Given the description of an element on the screen output the (x, y) to click on. 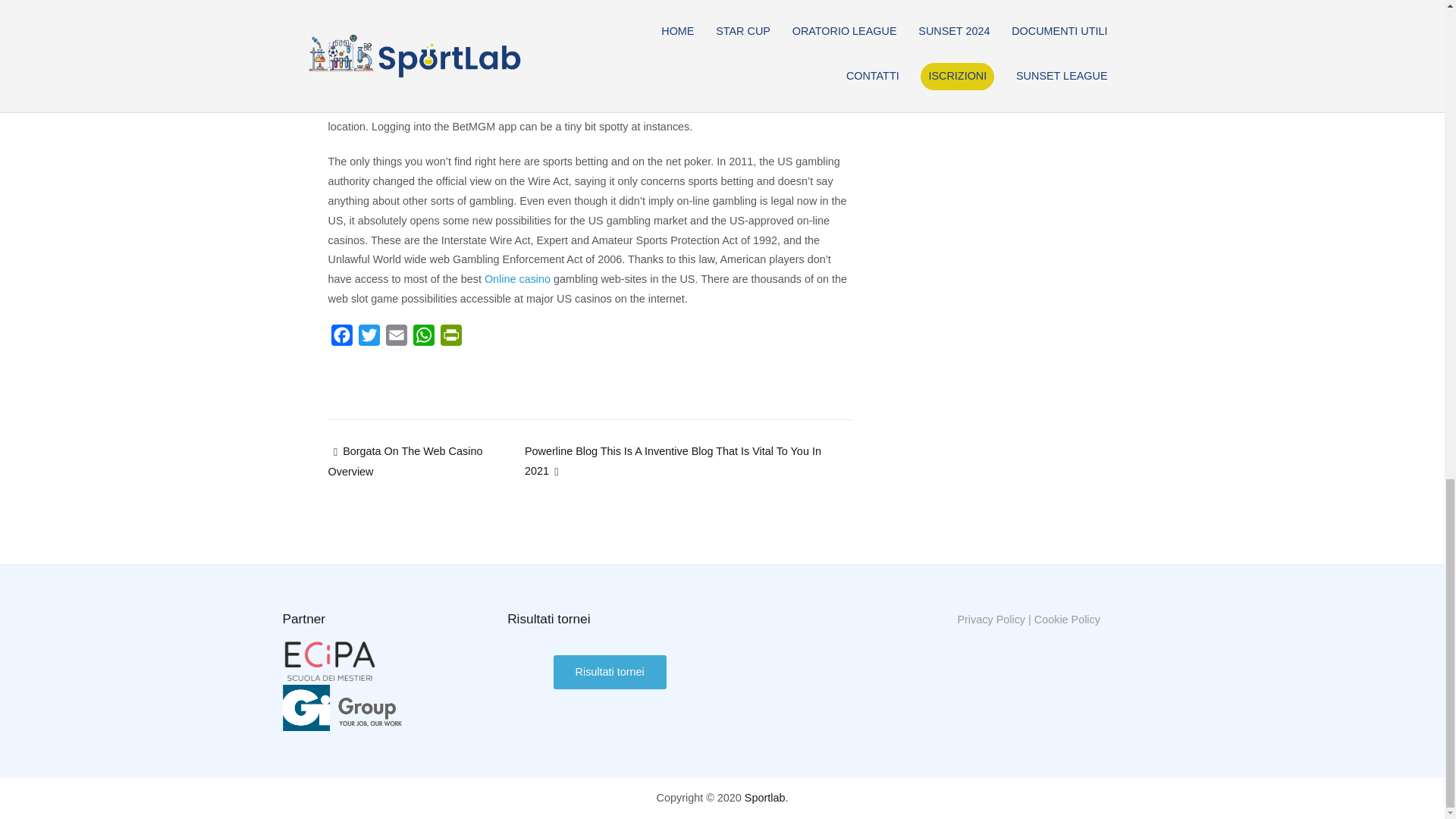
Risultati tornei (609, 672)
Sportlab (765, 797)
Borgata On The Web Casino Overview (404, 460)
Email (395, 338)
Twitter (368, 338)
WhatsApp (422, 338)
Facebook (341, 338)
Email (395, 338)
Privacy Policy (990, 619)
WhatsApp (422, 338)
PrintFriendly (450, 338)
Online casino (517, 278)
Facebook (341, 338)
Twitter (368, 338)
PrintFriendly (450, 338)
